Given the description of an element on the screen output the (x, y) to click on. 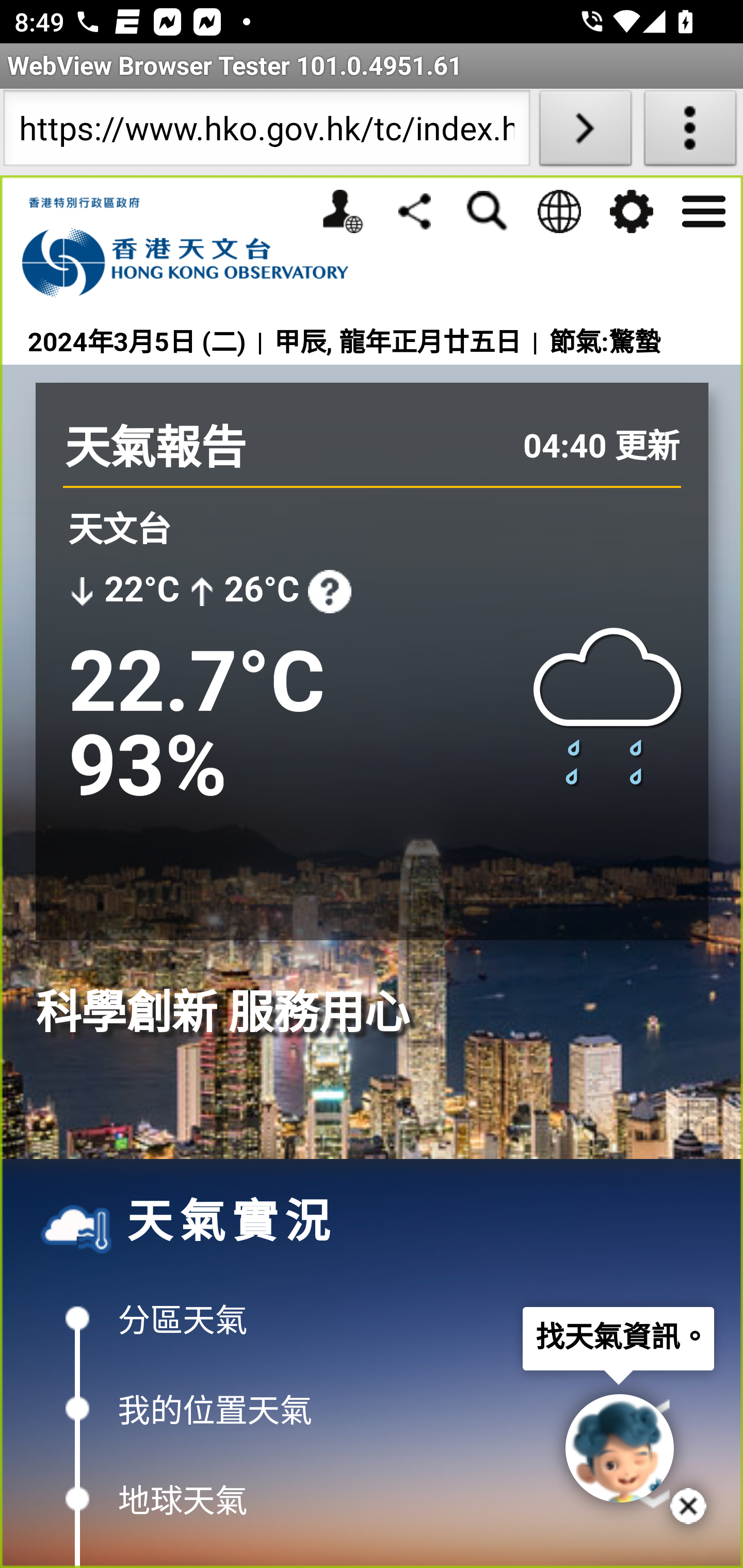
https://www.hko.gov.hk/tc/index.html (266, 132)
Load URL (585, 132)
About WebView (690, 132)
香港天文台 (195, 247)
個人版網站 個人版網站 (341, 211)
搜尋 搜尋 (486, 211)
語言 語言 (558, 211)
分享 分享 (414, 210)
選單 選單 (703, 209)
天氣報告 (155, 447)
幫助 (329, 591)
微雨 (608, 703)
分區天氣 (371, 1318)
我的位置天氣 (371, 1408)
與「度天隊長」聊天 (619, 1447)
地球天氣 (371, 1499)
關閉 (687, 1505)
